Given the description of an element on the screen output the (x, y) to click on. 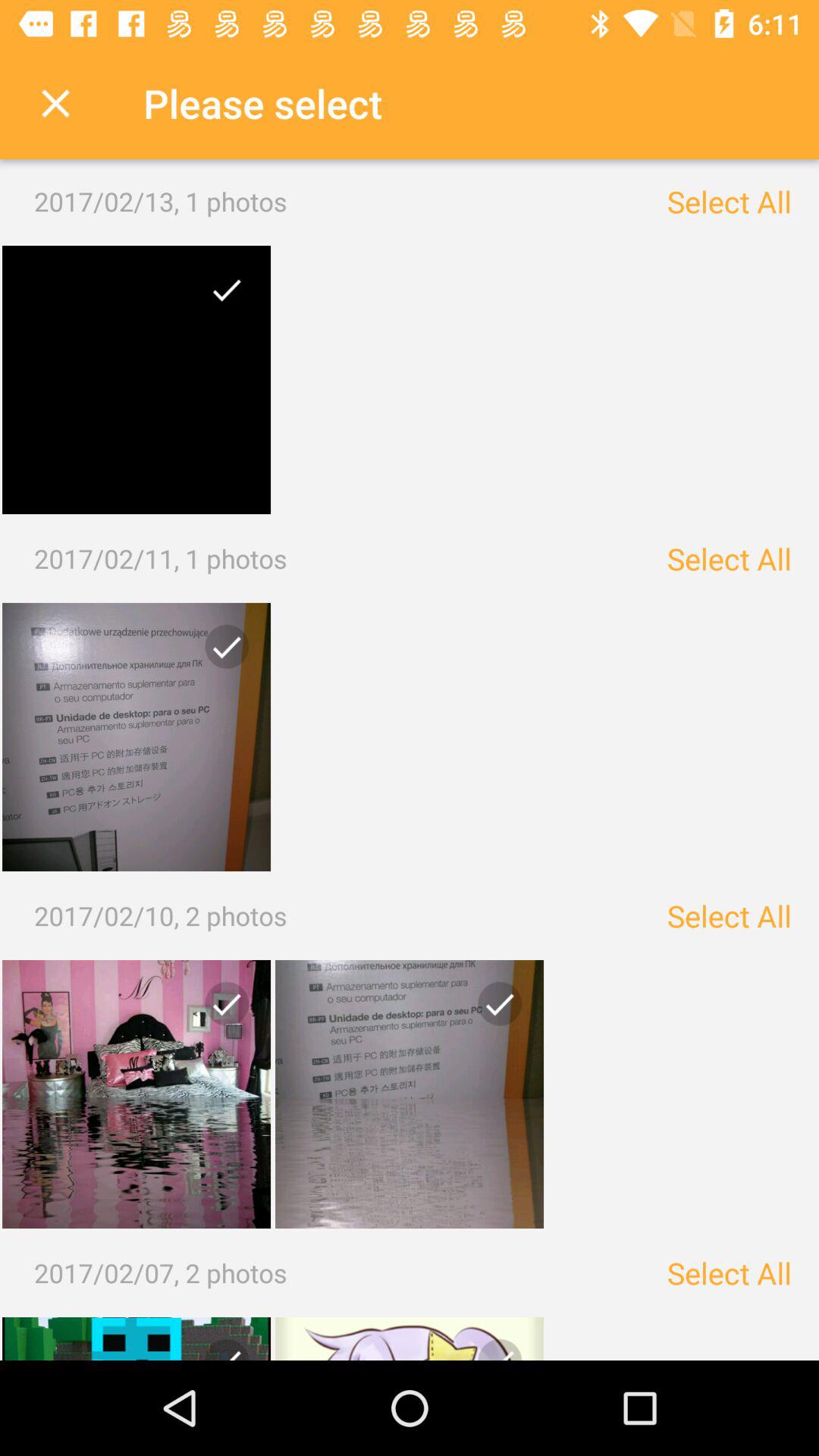
toggle selection (220, 1009)
